Given the description of an element on the screen output the (x, y) to click on. 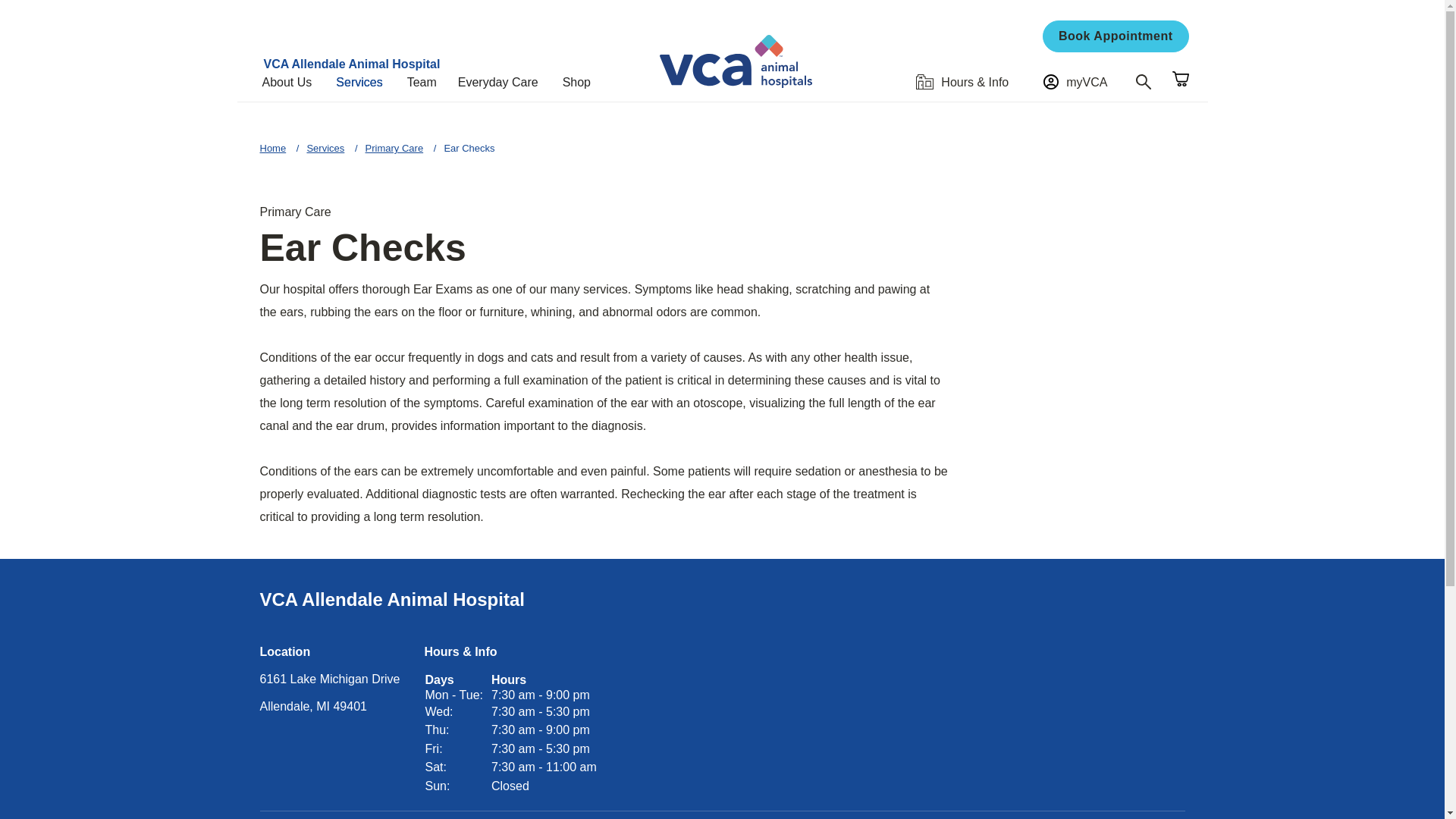
About Us (293, 82)
Services (365, 82)
